Given the description of an element on the screen output the (x, y) to click on. 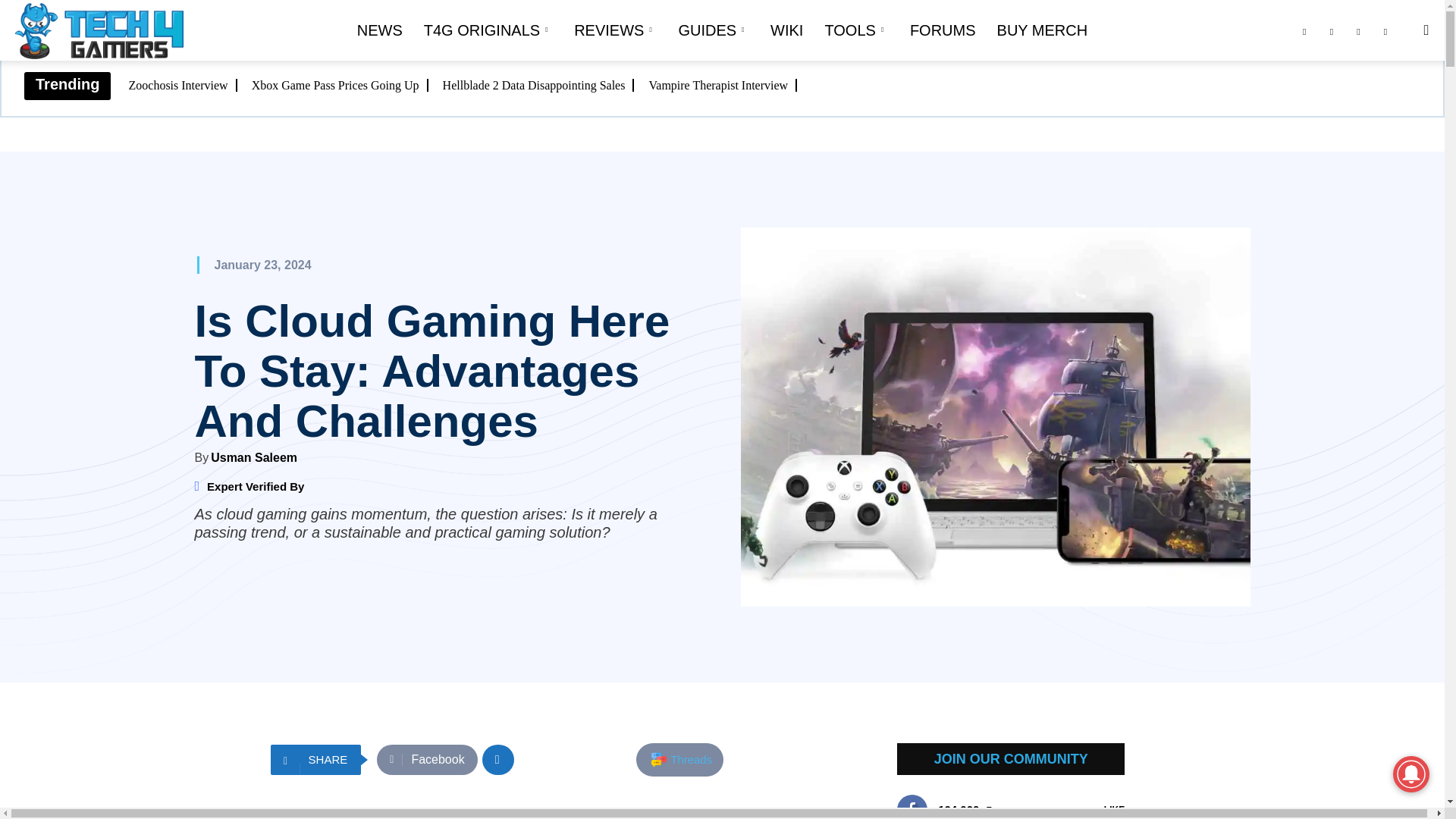
Facebook (427, 759)
Tech4Gamers Logo (98, 30)
Xbox Game Pass Prices Going Up (339, 84)
Zoochosis Interview (183, 84)
Hellblade 2 Data Disappointing Sales (538, 84)
